Given the description of an element on the screen output the (x, y) to click on. 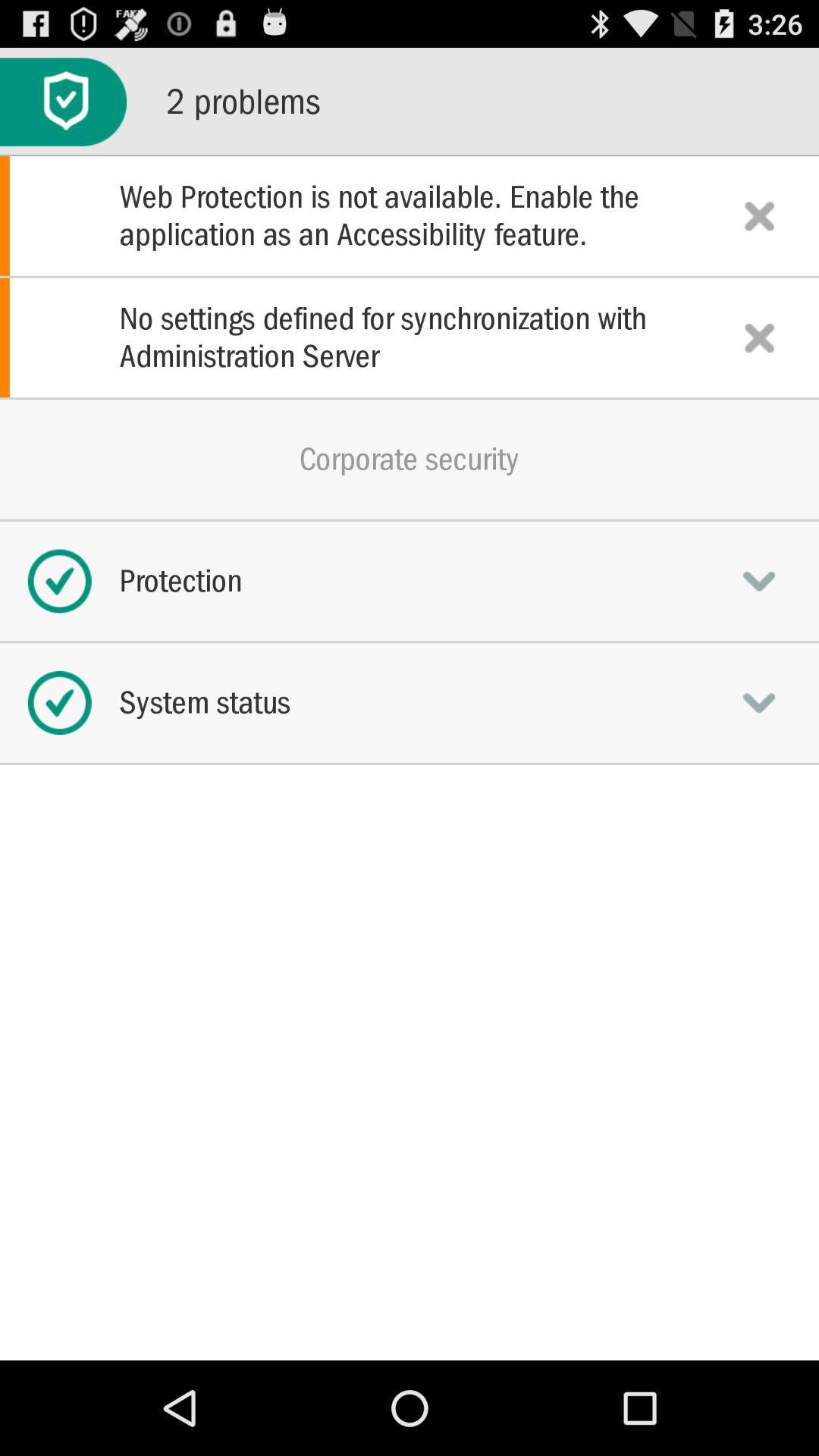
view system status (759, 702)
